Given the description of an element on the screen output the (x, y) to click on. 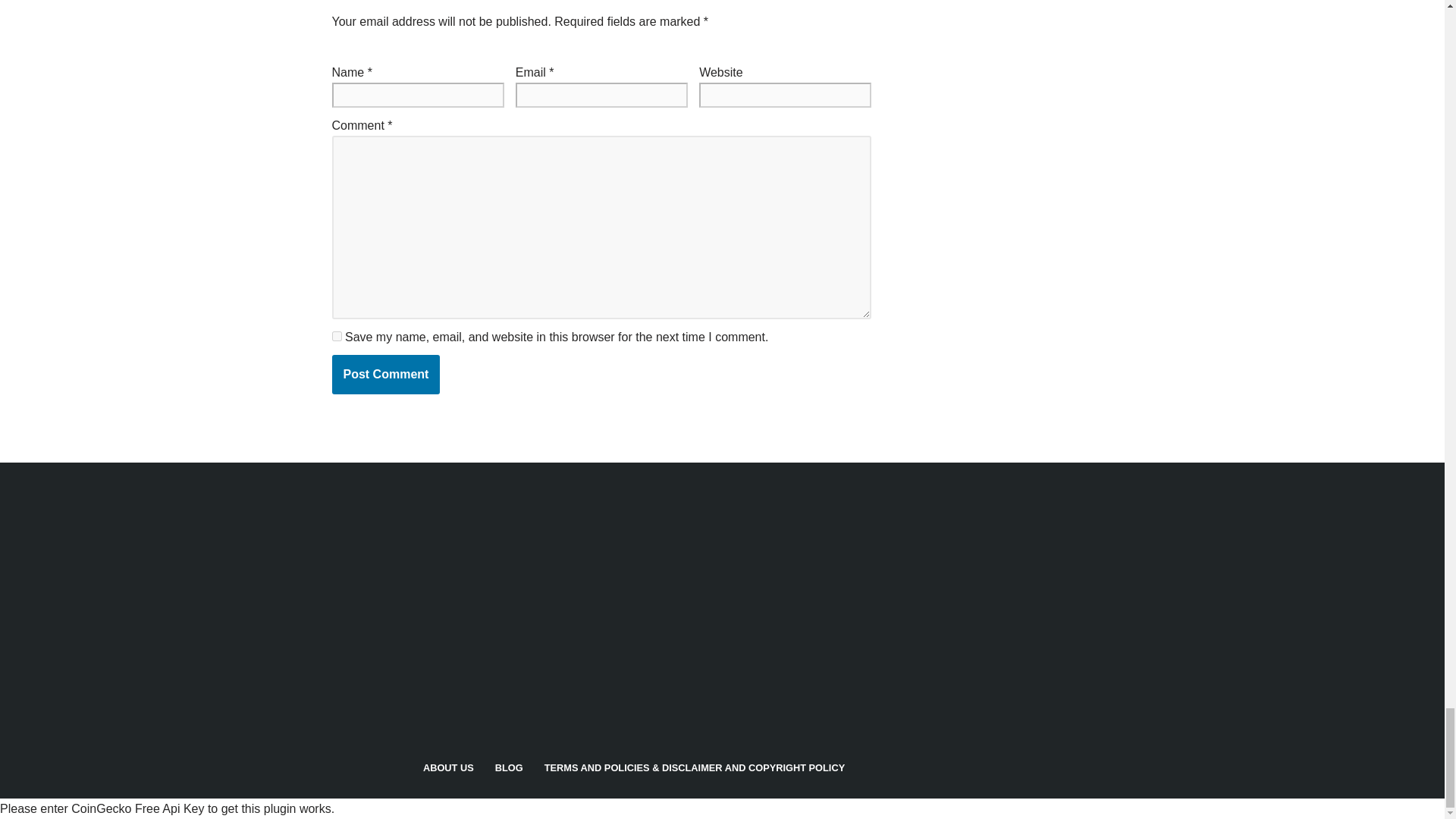
ABOUT US (448, 768)
BLOG (508, 768)
Post Comment (386, 373)
Post Comment (386, 373)
yes (336, 336)
